Given the description of an element on the screen output the (x, y) to click on. 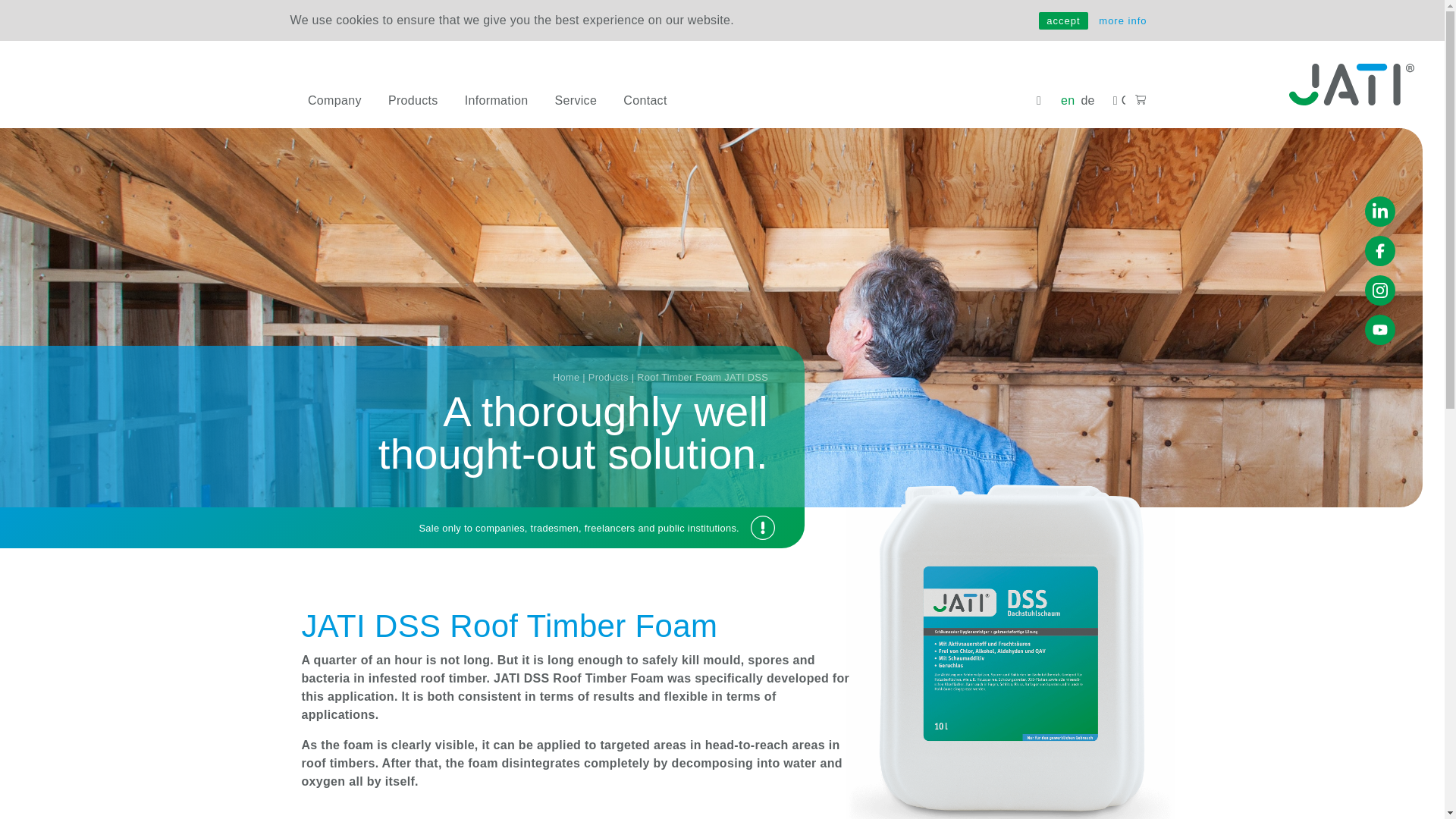
more info (1122, 20)
de (1090, 100)
Company (347, 101)
accept (1063, 20)
Products (426, 101)
en (1070, 100)
Information (509, 101)
Contact (658, 101)
Contact (1119, 101)
Products (426, 101)
Company (347, 101)
Service (589, 101)
